Given the description of an element on the screen output the (x, y) to click on. 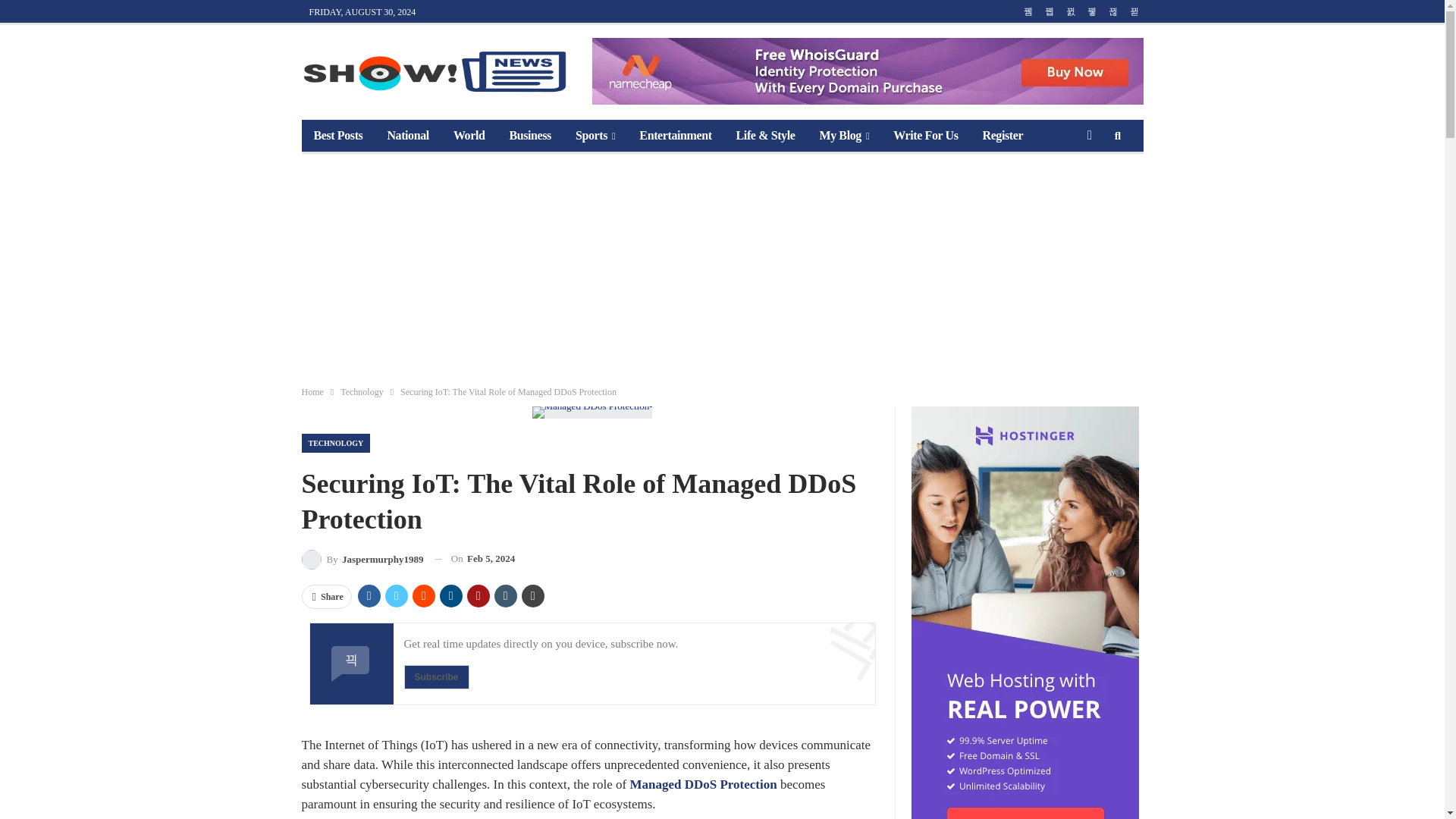
TECHNOLOGY (336, 443)
Browse Author Articles (362, 558)
Best Posts (338, 135)
National (407, 135)
Write For Us (924, 135)
By Jaspermurphy1989 (362, 558)
Sports (595, 135)
Home (312, 392)
Subscribe (435, 677)
